Given the description of an element on the screen output the (x, y) to click on. 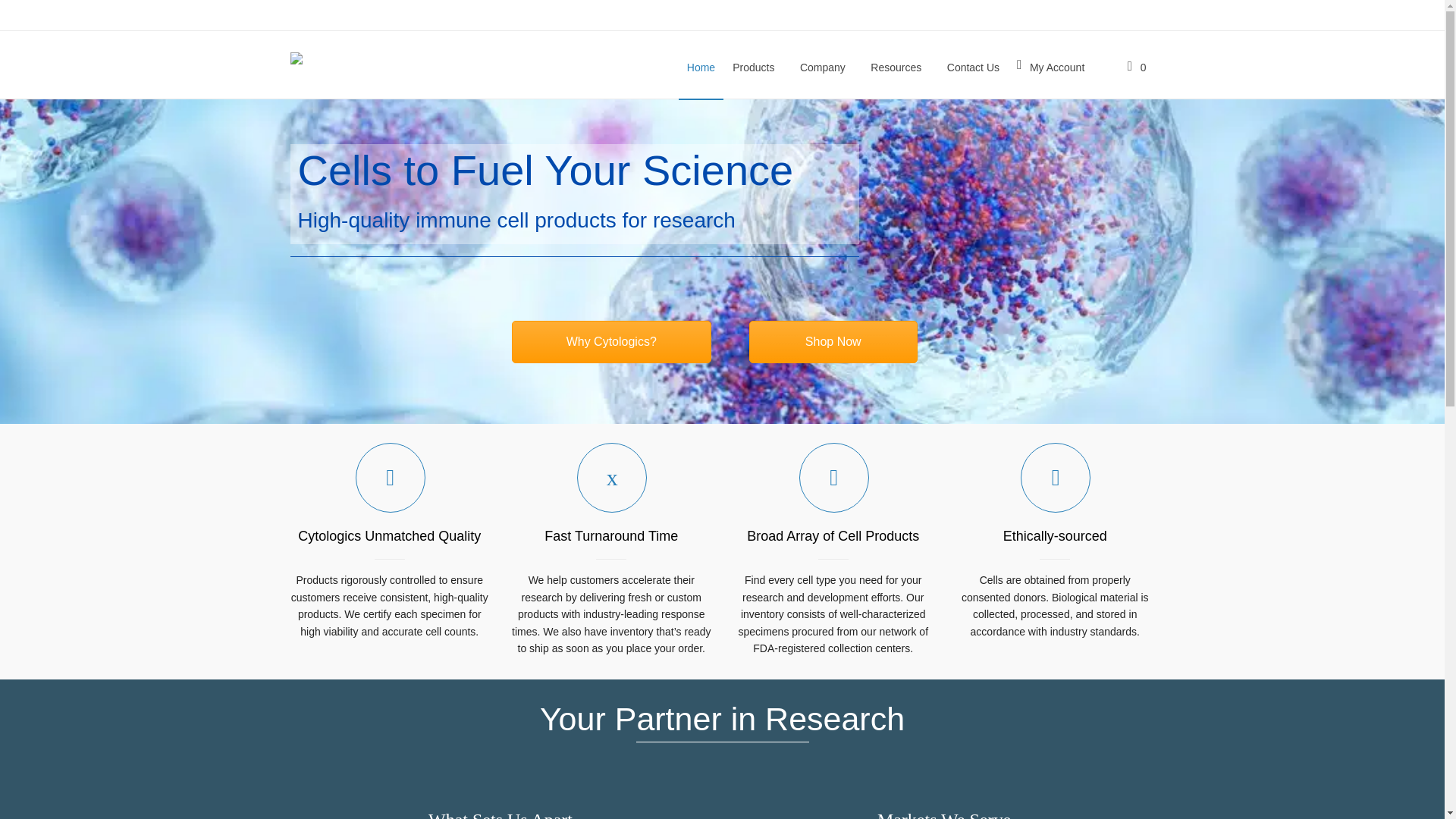
Products (756, 65)
Products (833, 342)
